Given the description of an element on the screen output the (x, y) to click on. 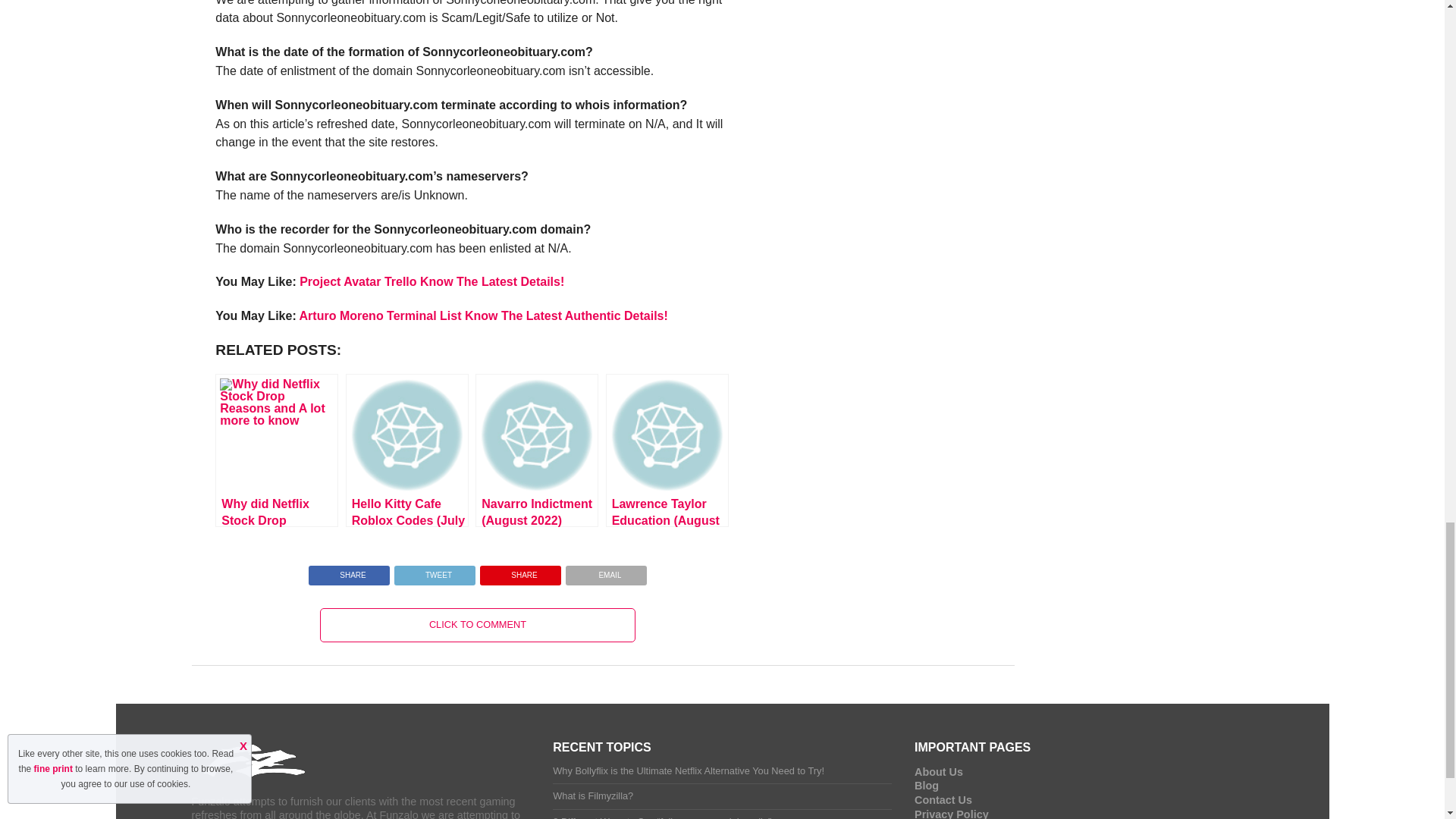
SHARE (349, 571)
TWEET (434, 571)
Tweet This Post (434, 571)
Project Avatar Trello Know The Latest Details! (431, 281)
Share on Facebook (349, 571)
Pin This Post (520, 571)
